Given the description of an element on the screen output the (x, y) to click on. 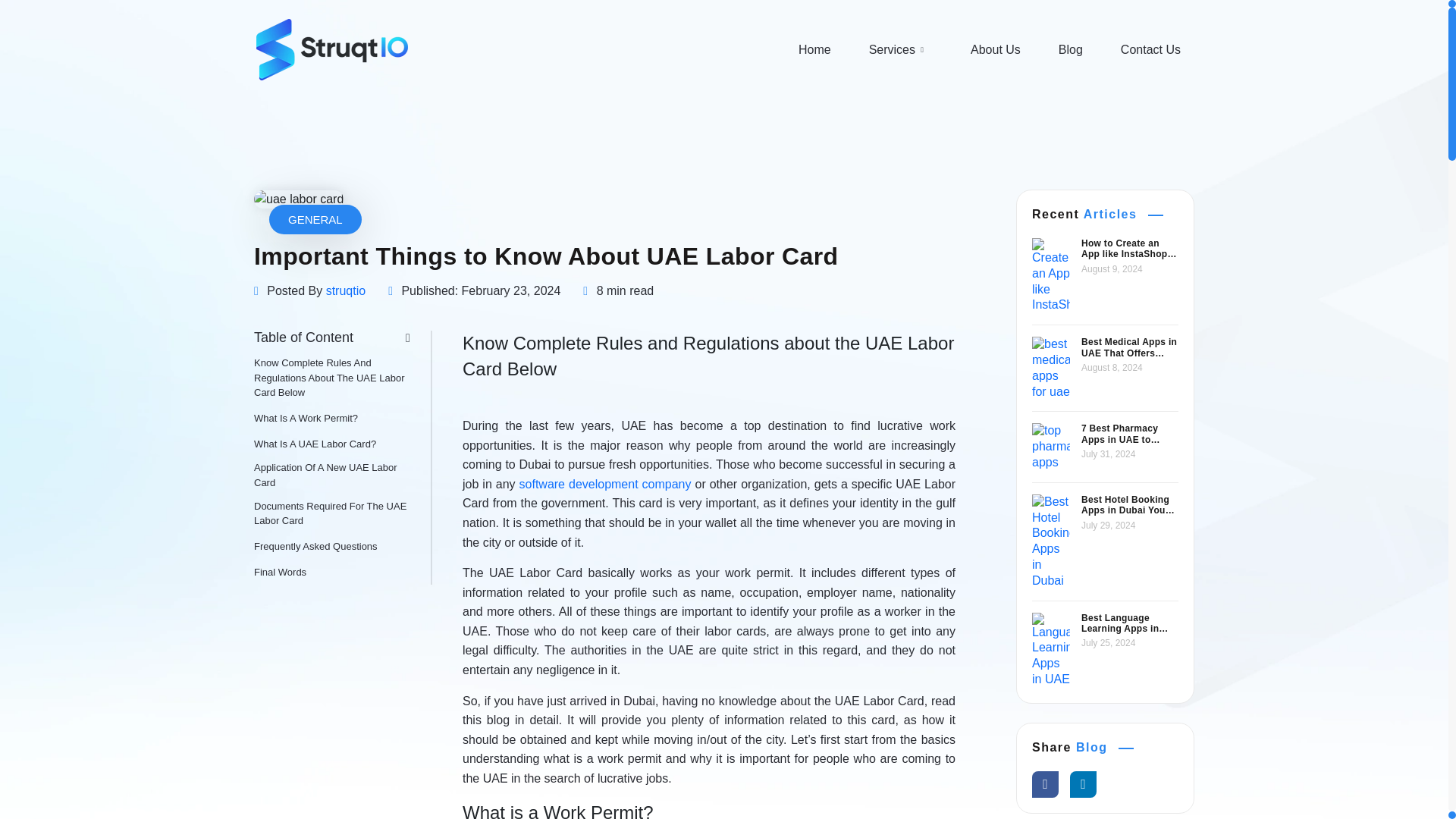
What Is A UAE Labor Card? (314, 444)
How to Create an App like InstaShop in Few Simple Steps (1129, 249)
Documents Required For The UAE Labor Card (336, 513)
Application Of A New UAE Labor Card (336, 474)
Best Medical Apps in UAE That Offers Quick Response (1129, 347)
Best Hotel Booking Apps in Dubai You Should Know in 2024 (1129, 505)
Services (901, 48)
7 Best Pharmacy Apps in UAE to Order Medicines (1129, 434)
About Us (995, 48)
Frequently Asked Questions (315, 546)
